Given the description of an element on the screen output the (x, y) to click on. 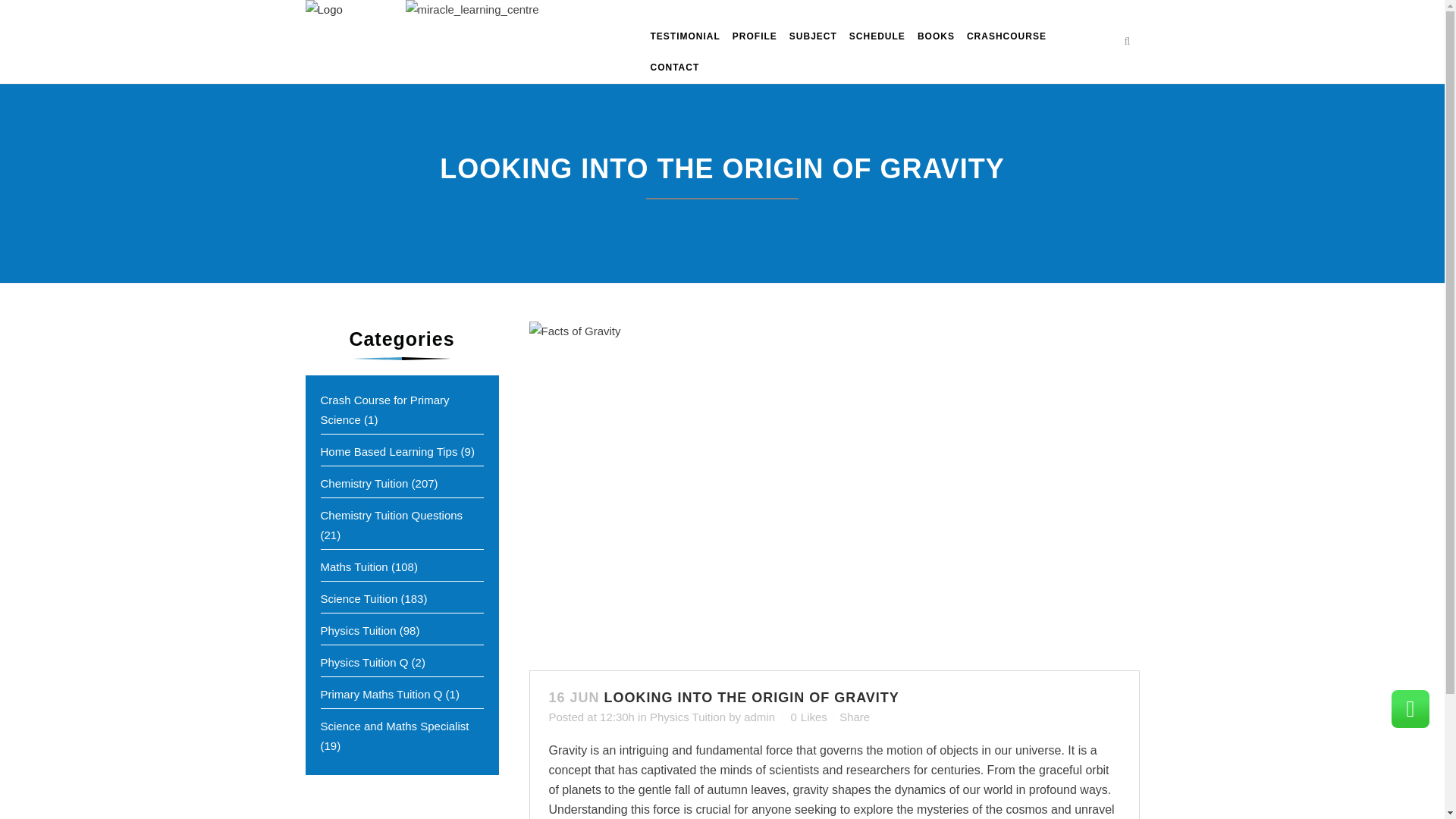
CONTACT (675, 67)
SUBJECT (813, 36)
BOOKS (935, 36)
Communication  (675, 67)
Matter (813, 36)
SCHEDULE (877, 36)
CRASHCOURSE (1006, 36)
PROFILE (754, 36)
TESTIMONIAL (685, 36)
Students Feedback (685, 36)
